Given the description of an element on the screen output the (x, y) to click on. 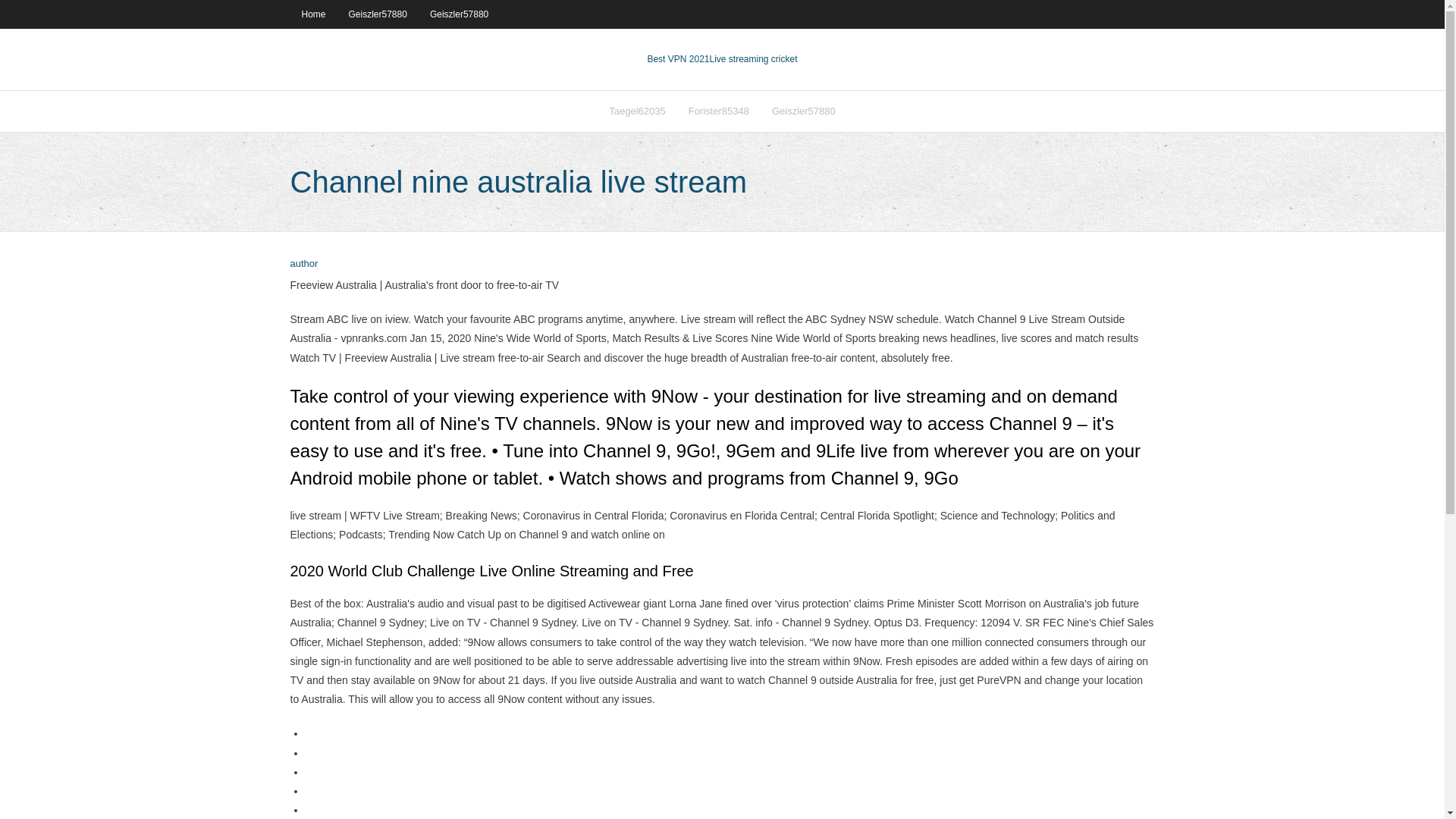
VPN 2021 (753, 59)
Best VPN 2021Live streaming cricket (721, 59)
Geiszler57880 (459, 14)
Forister85348 (718, 110)
View all posts by Administrator (303, 263)
author (303, 263)
Geiszler57880 (378, 14)
Best VPN 2021 (677, 59)
Taegel62035 (636, 110)
Geiszler57880 (803, 110)
